Given the description of an element on the screen output the (x, y) to click on. 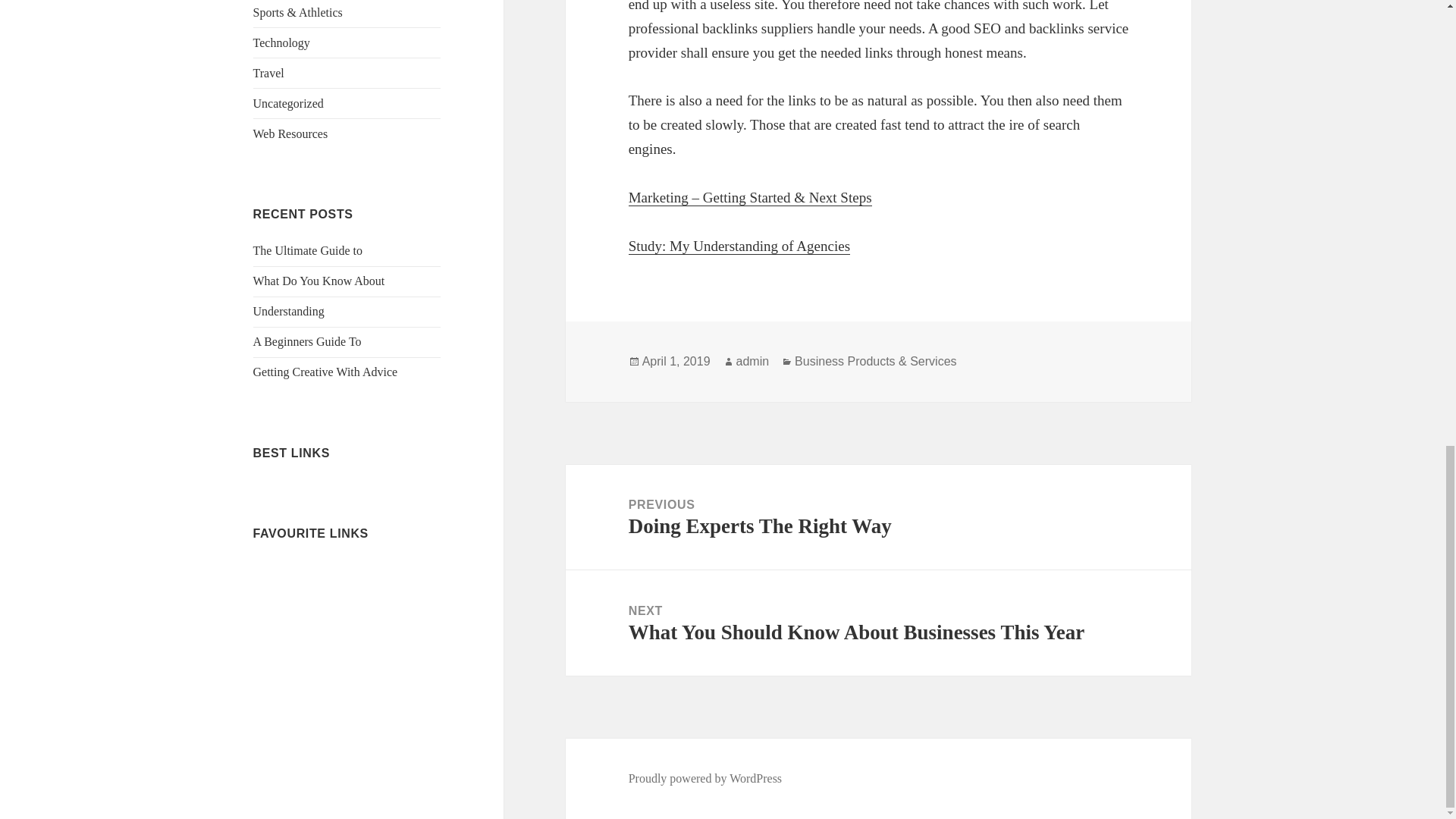
Technology (281, 42)
Understanding (288, 310)
admin (753, 361)
What Do You Know About (319, 280)
April 1, 2019 (676, 361)
The Ultimate Guide to (307, 250)
Travel (268, 72)
Uncategorized (288, 103)
Getting Creative With Advice (325, 371)
Web Resources (291, 133)
